Given the description of an element on the screen output the (x, y) to click on. 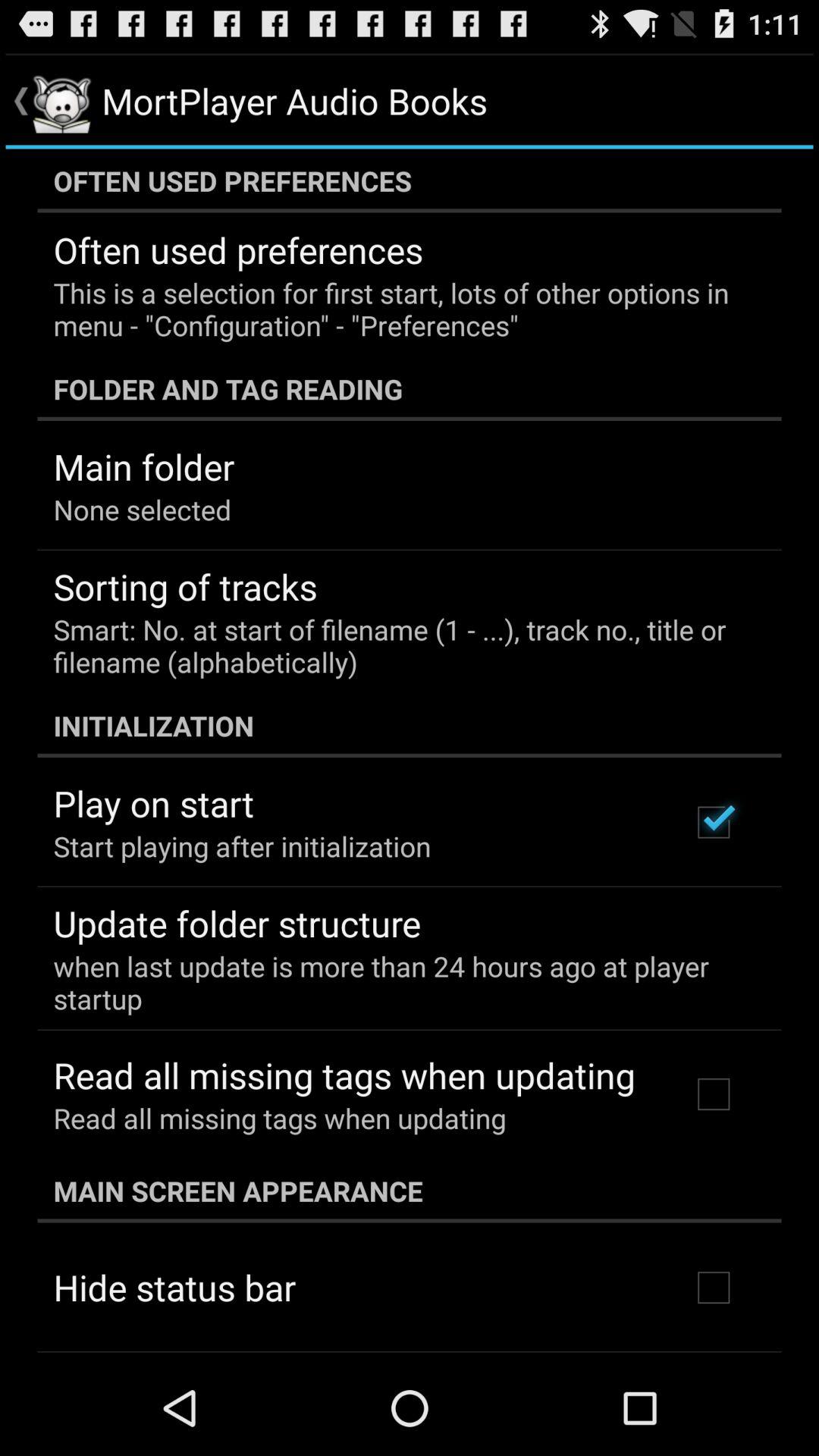
click item above smart no at item (185, 586)
